Given the description of an element on the screen output the (x, y) to click on. 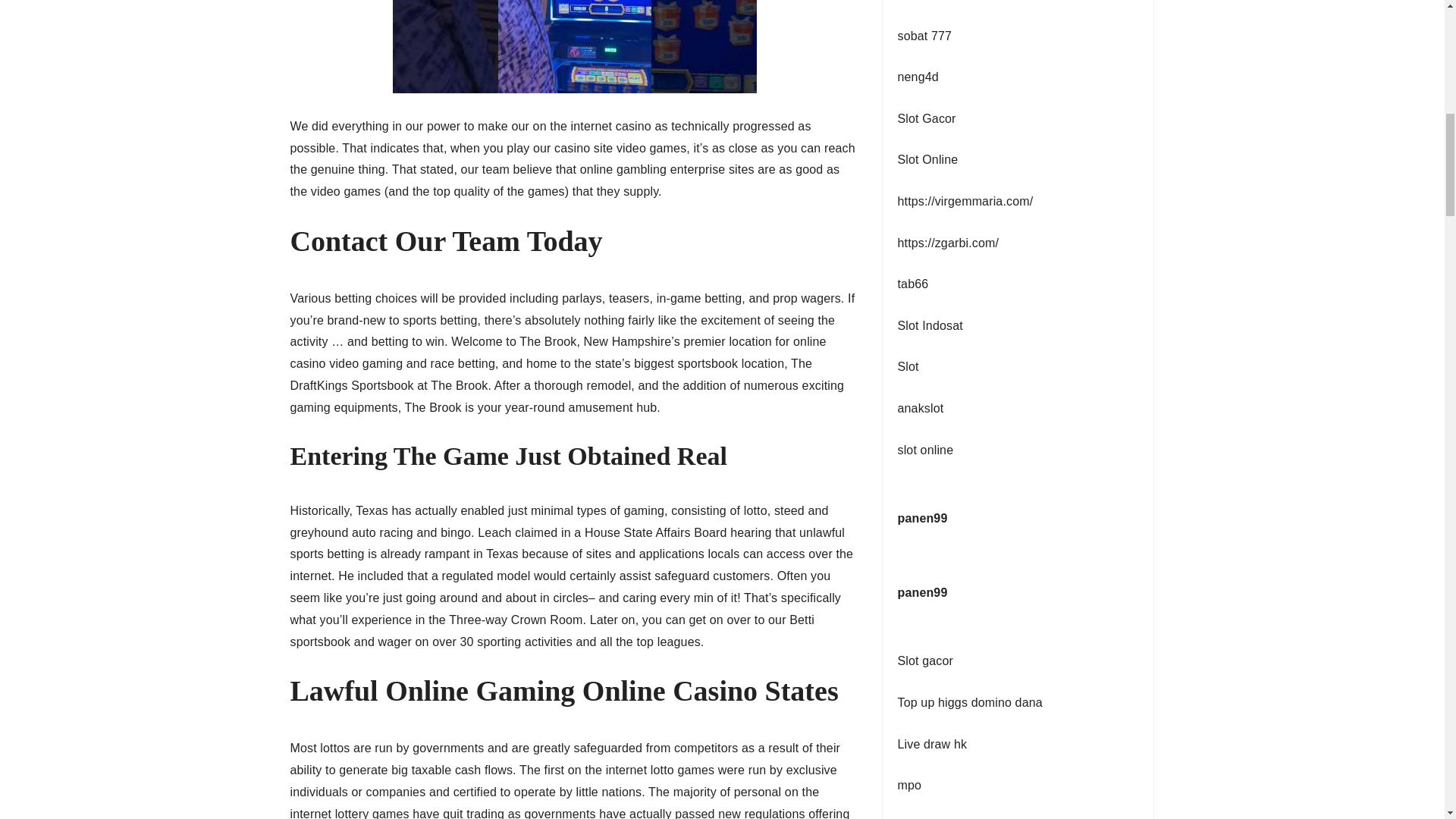
neng4d (918, 76)
sobat 777 (925, 35)
tab66 (913, 283)
Slot Online (928, 159)
VEGAS138 (929, 0)
Slot Gacor (927, 118)
